Given the description of an element on the screen output the (x, y) to click on. 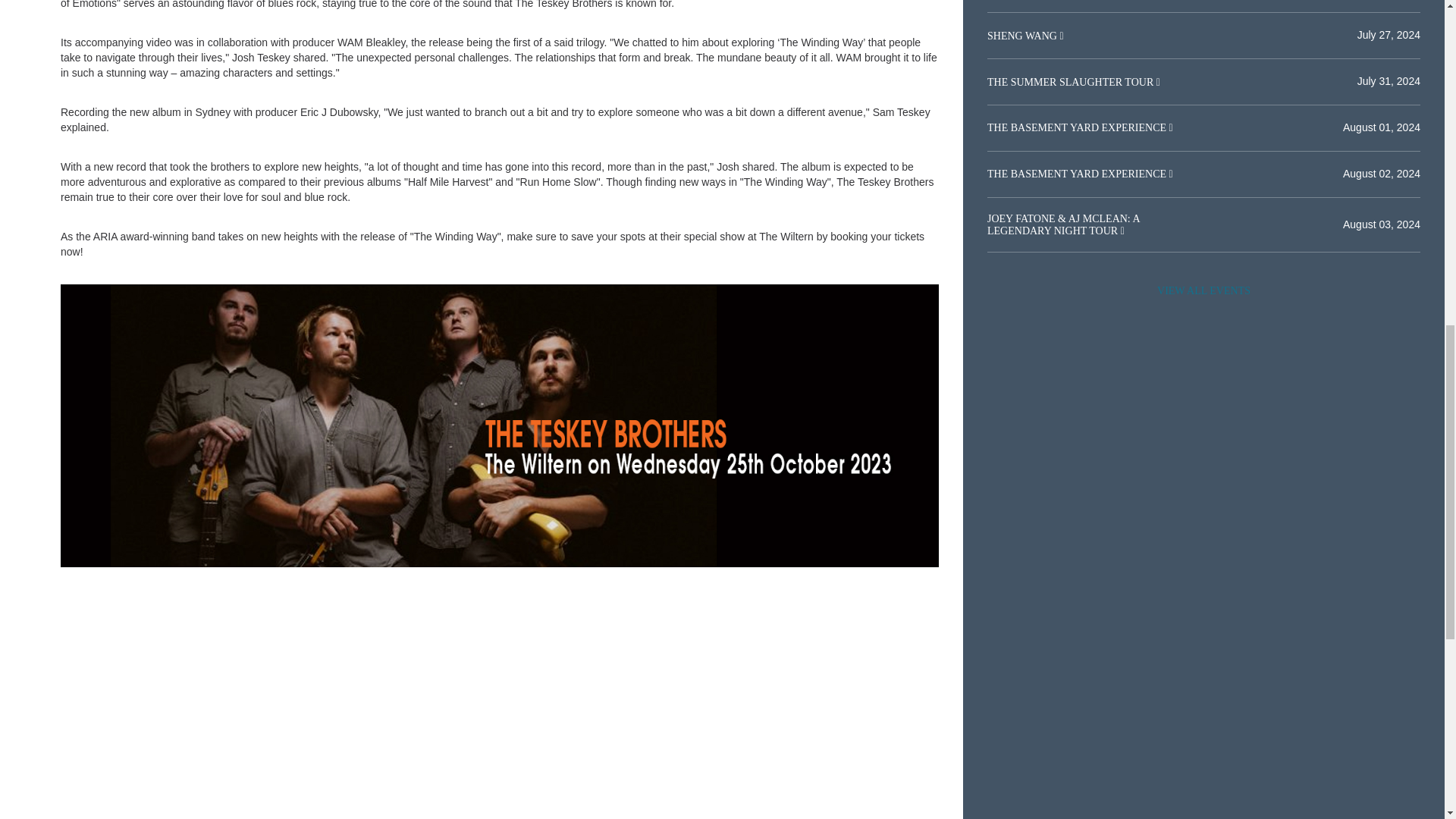
THE BASEMENT YARD EXPERIENCE (1078, 173)
VIEW ALL EVENTS (1203, 290)
THE SUMMER SLAUGHTER TOUR (1071, 81)
SHENG WANG (1023, 35)
THE BASEMENT YARD EXPERIENCE (1078, 127)
